Given the description of an element on the screen output the (x, y) to click on. 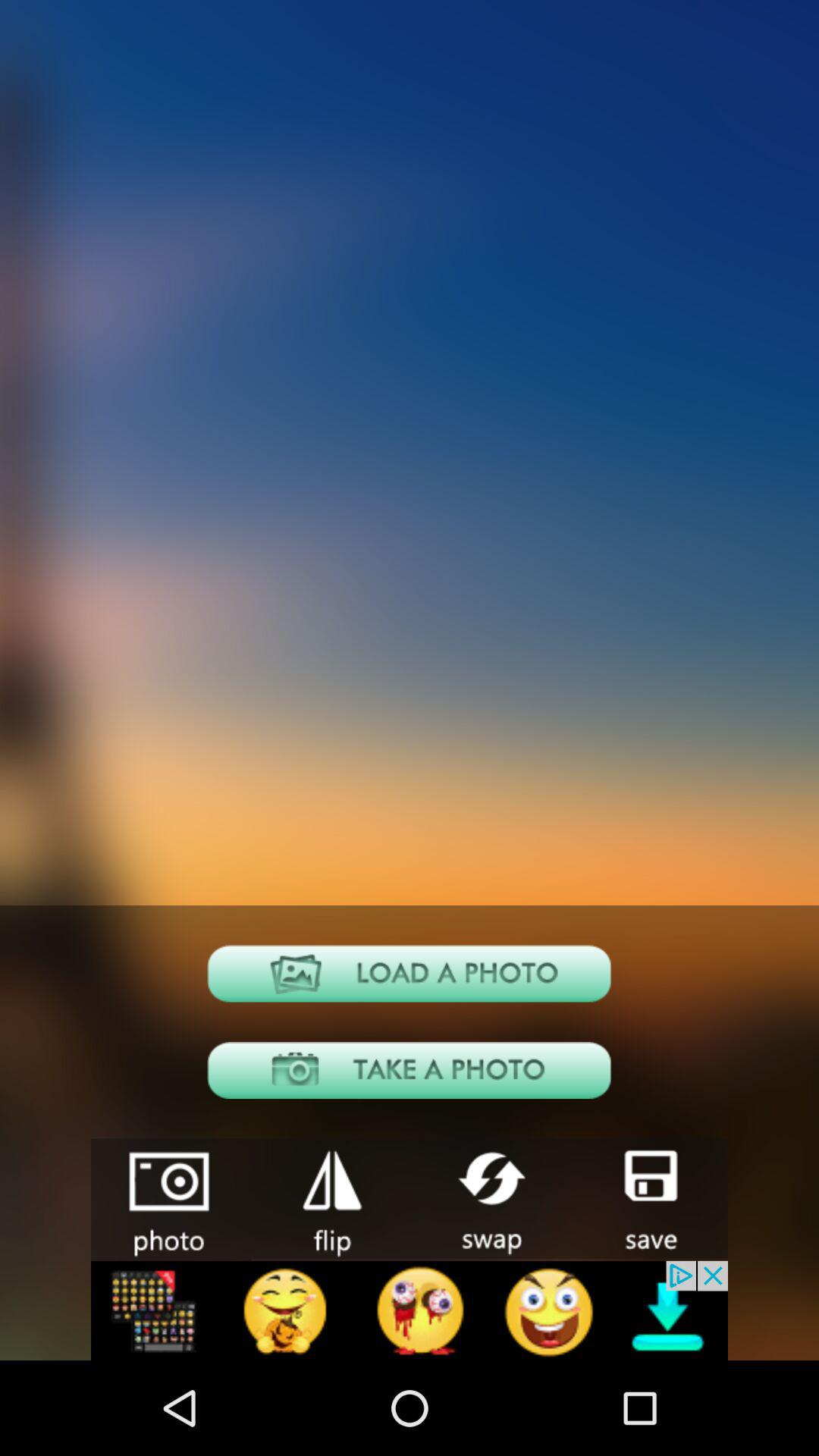
save button (648, 1198)
